Given the description of an element on the screen output the (x, y) to click on. 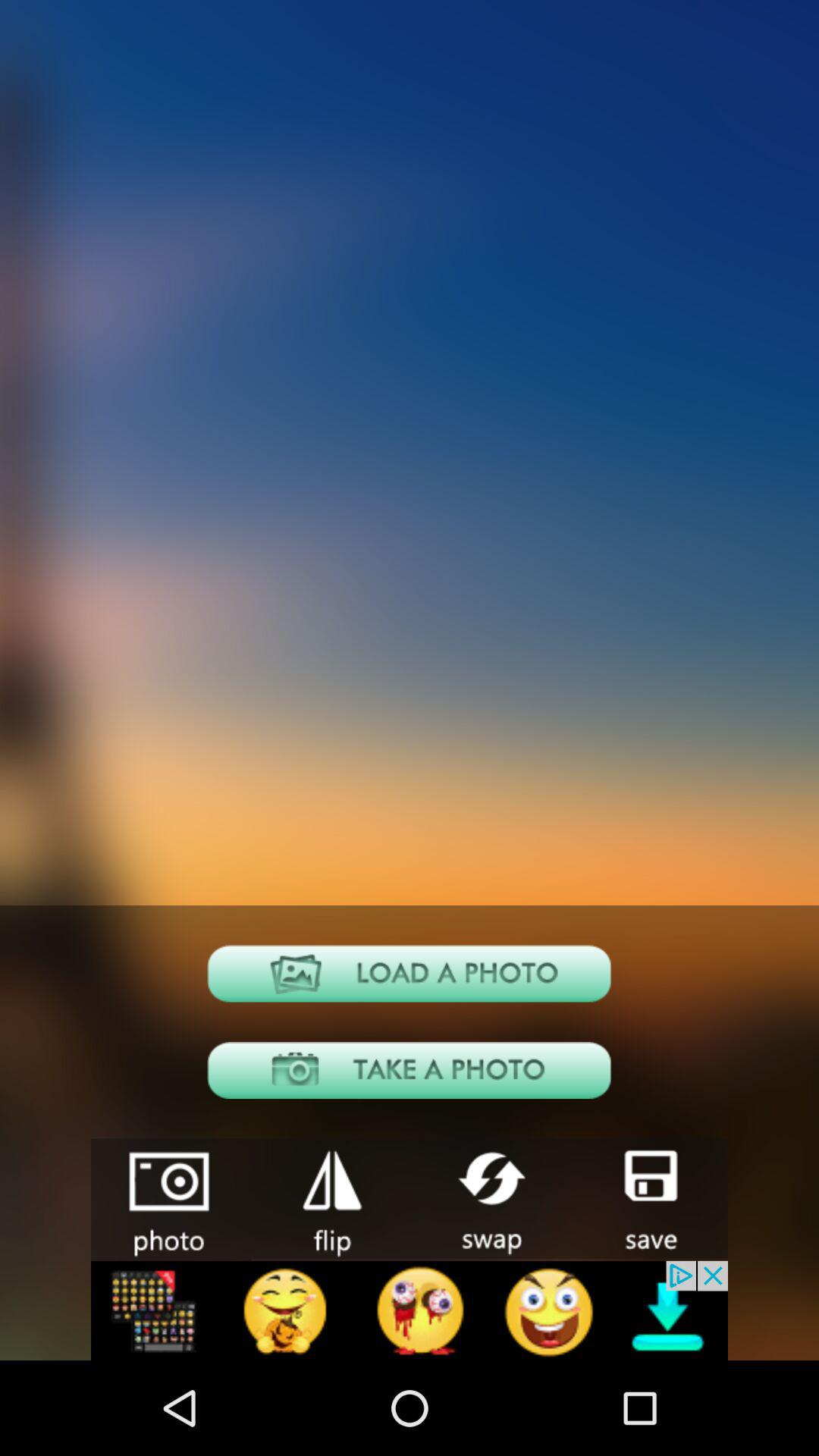
save button (648, 1198)
